Given the description of an element on the screen output the (x, y) to click on. 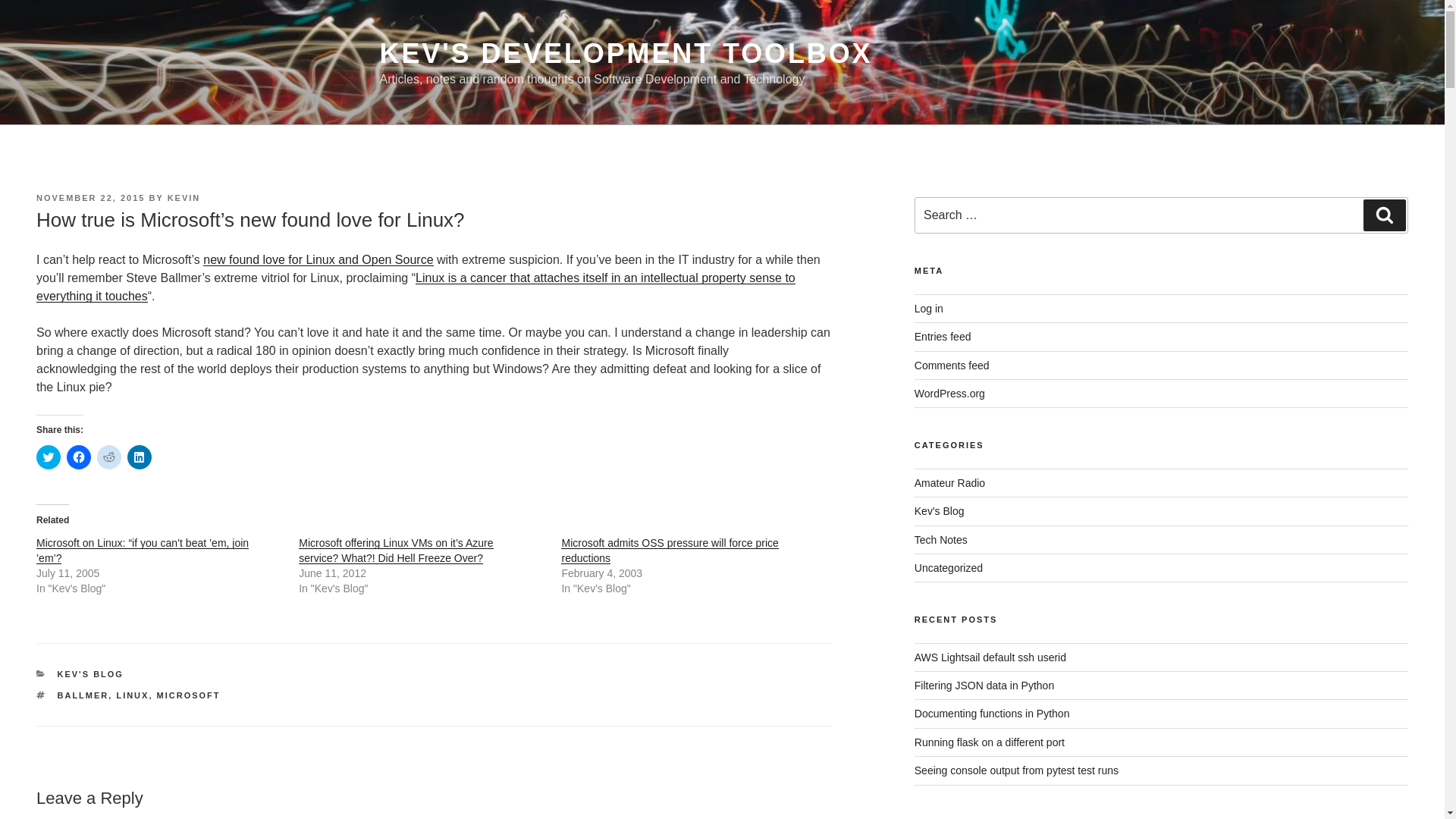
BALLMER (83, 695)
Click to share on Facebook (78, 457)
NOVEMBER 22, 2015 (90, 197)
MICROSOFT (189, 695)
Amateur Radio (949, 482)
KEV'S BLOG (90, 673)
Tech Notes (941, 539)
new found love for Linux and Open Source (317, 259)
AWS Lightsail default ssh userid (989, 657)
Log in (928, 308)
Search (1384, 214)
KEV'S DEVELOPMENT TOOLBOX (625, 52)
Microsoft admits OSS pressure will force price reductions (668, 550)
Microsoft admits OSS pressure will force price reductions (668, 550)
Kev's Blog (938, 510)
